Given the description of an element on the screen output the (x, y) to click on. 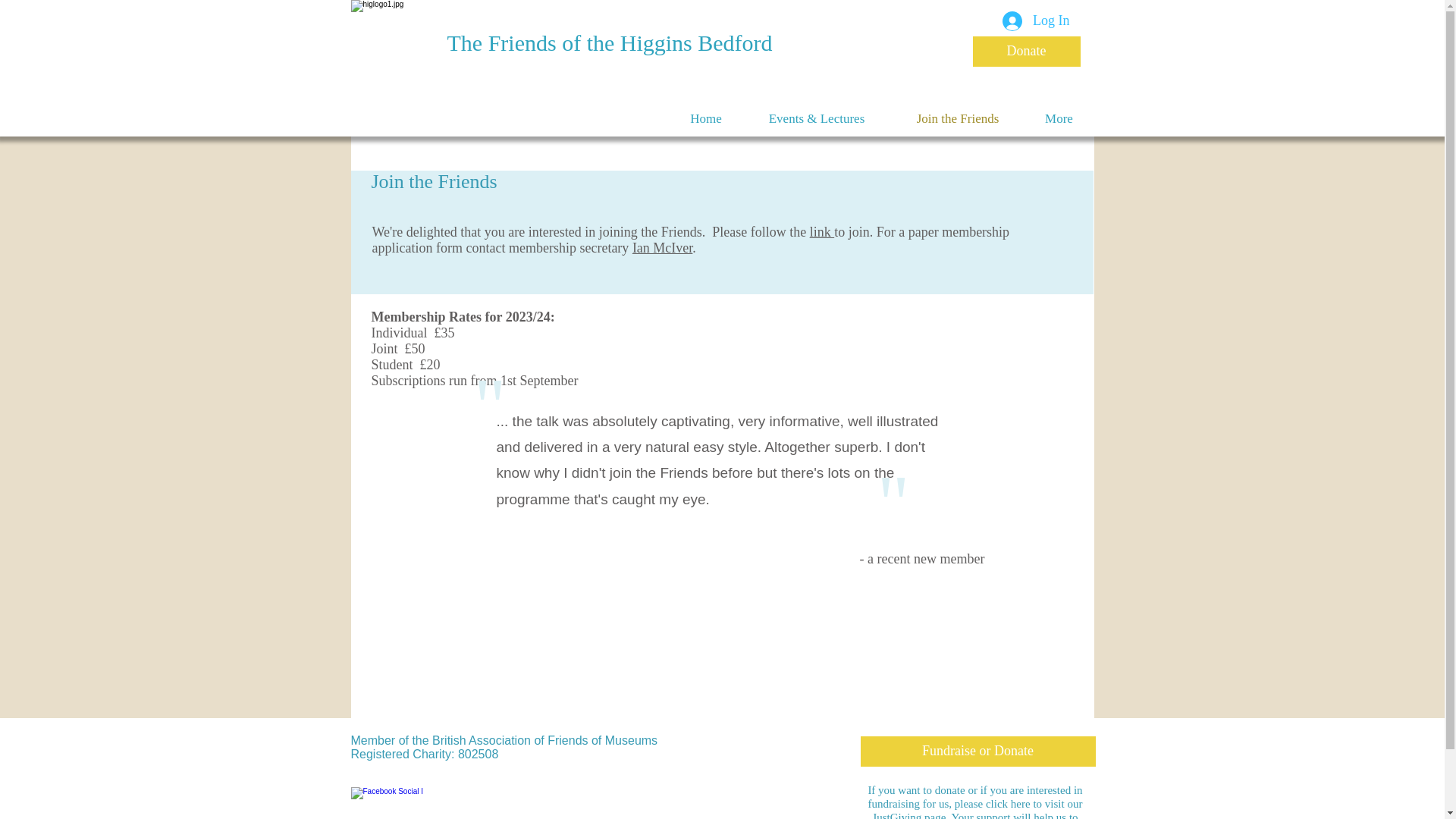
Donate (1026, 51)
Home (705, 118)
Wix.com (603, 737)
Join the Friends (957, 118)
The Friends of the Higgins Bedford (609, 42)
Log In (1035, 21)
Fundraise or Donate (977, 751)
link (821, 231)
Ian McIver (662, 247)
